Given the description of an element on the screen output the (x, y) to click on. 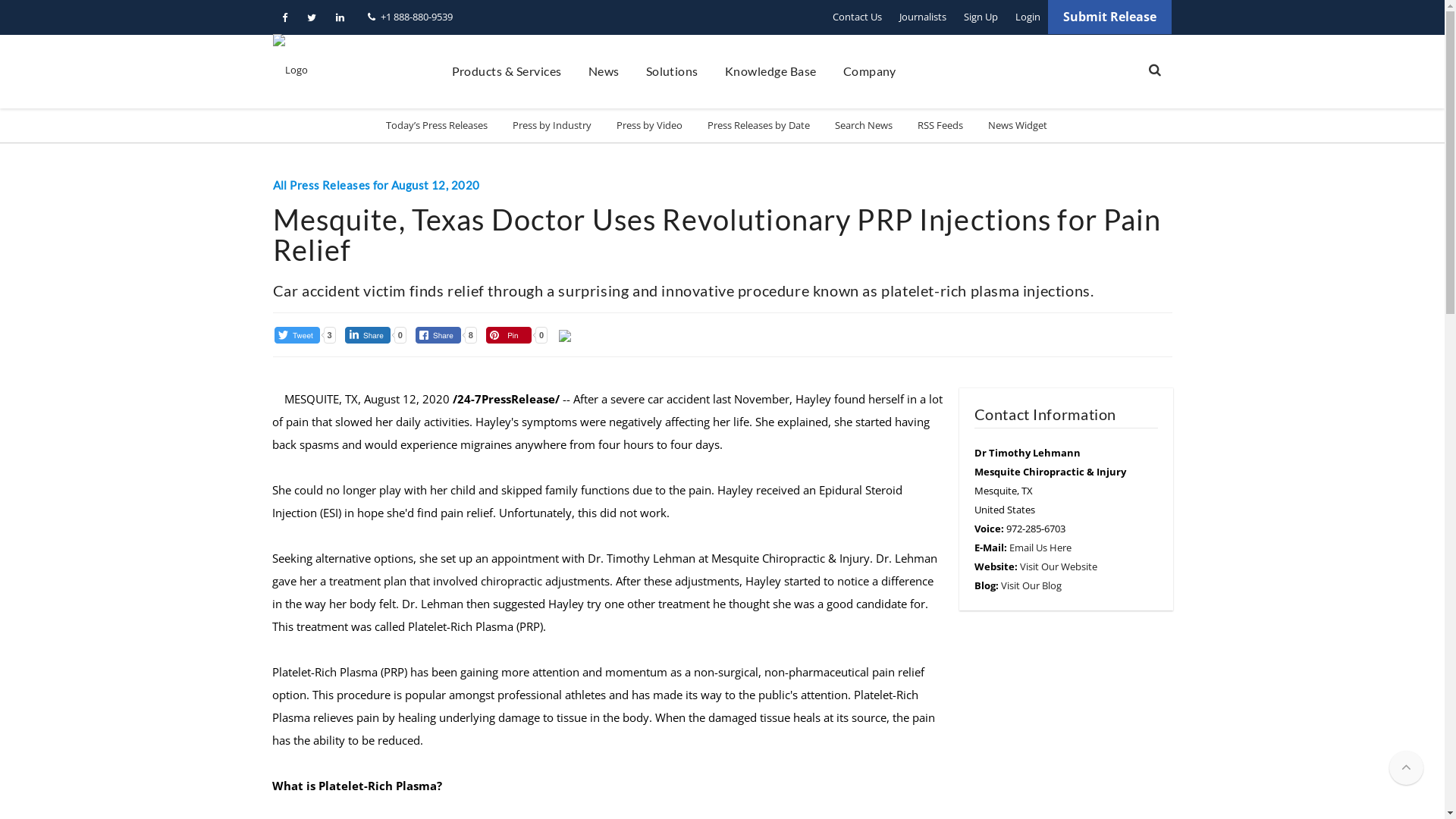
Press by Video Element type: text (649, 125)
Visit Our Website Element type: text (1057, 566)
Knowledge Base Element type: text (770, 70)
Search News Element type: text (863, 125)
News Element type: text (603, 70)
Press by Industry Element type: text (551, 125)
RSS Feeds Element type: text (940, 125)
Email Us Here Element type: text (1039, 547)
Products & Services Element type: text (505, 70)
All Press Releases for August 12, 2020 Element type: text (376, 184)
Solutions Element type: text (671, 70)
News Widget Element type: text (1017, 125)
Visit Our Blog Element type: text (1031, 585)
+1 888-880-9539 Element type: text (409, 16)
Company Element type: text (869, 70)
Press Releases by Date Element type: text (758, 125)
